Given the description of an element on the screen output the (x, y) to click on. 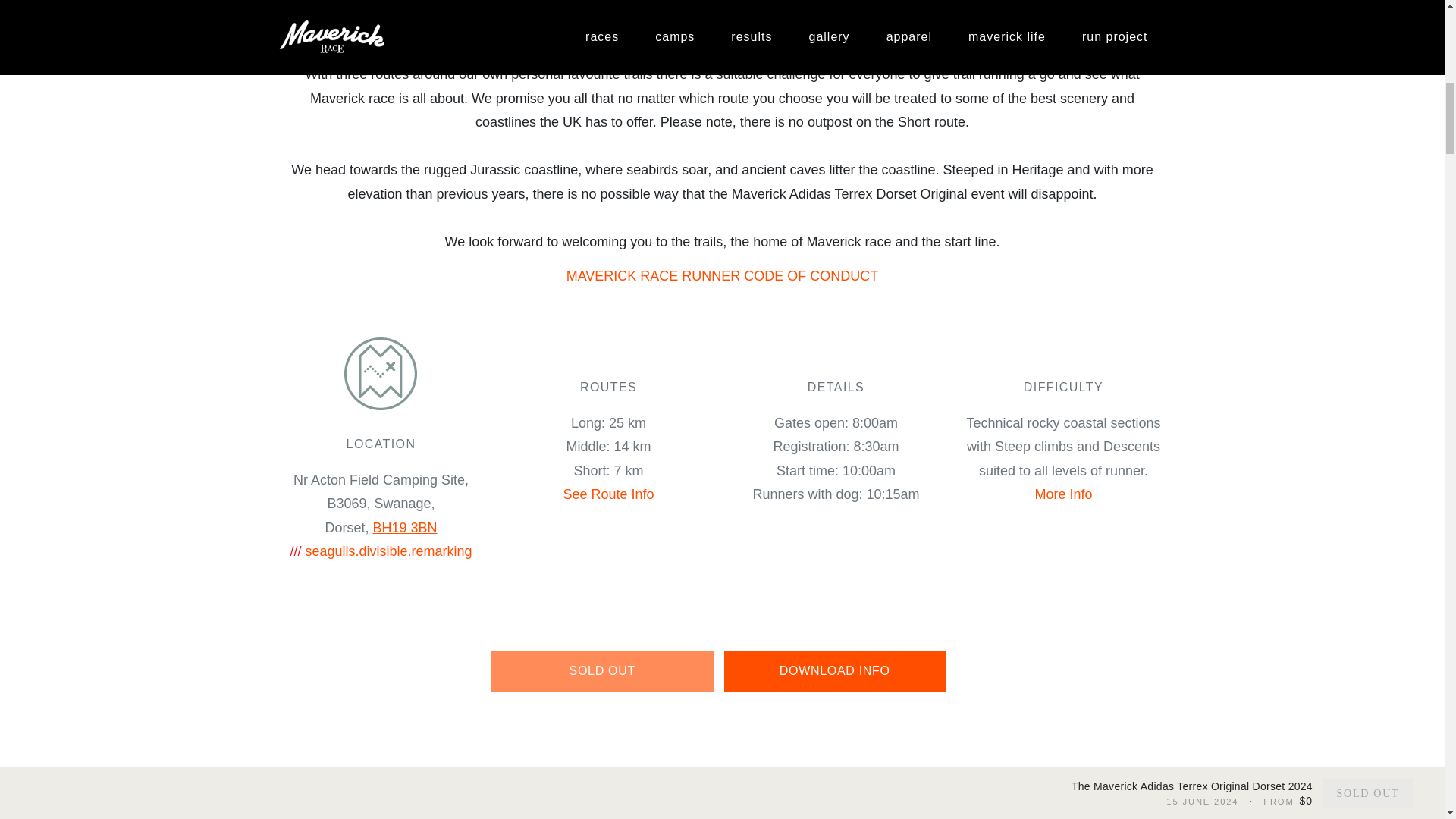
DOWNLOAD INFO (833, 670)
See Route Info (607, 494)
MAVERICK RACE RUNNER CODE OF CONDUCT (722, 275)
BH19 3BN (404, 527)
SOLD OUT (602, 670)
seagulls.divisible.remarking (387, 550)
SOLD OUT (602, 670)
More Info (1062, 494)
See Route Info (607, 494)
